Given the description of an element on the screen output the (x, y) to click on. 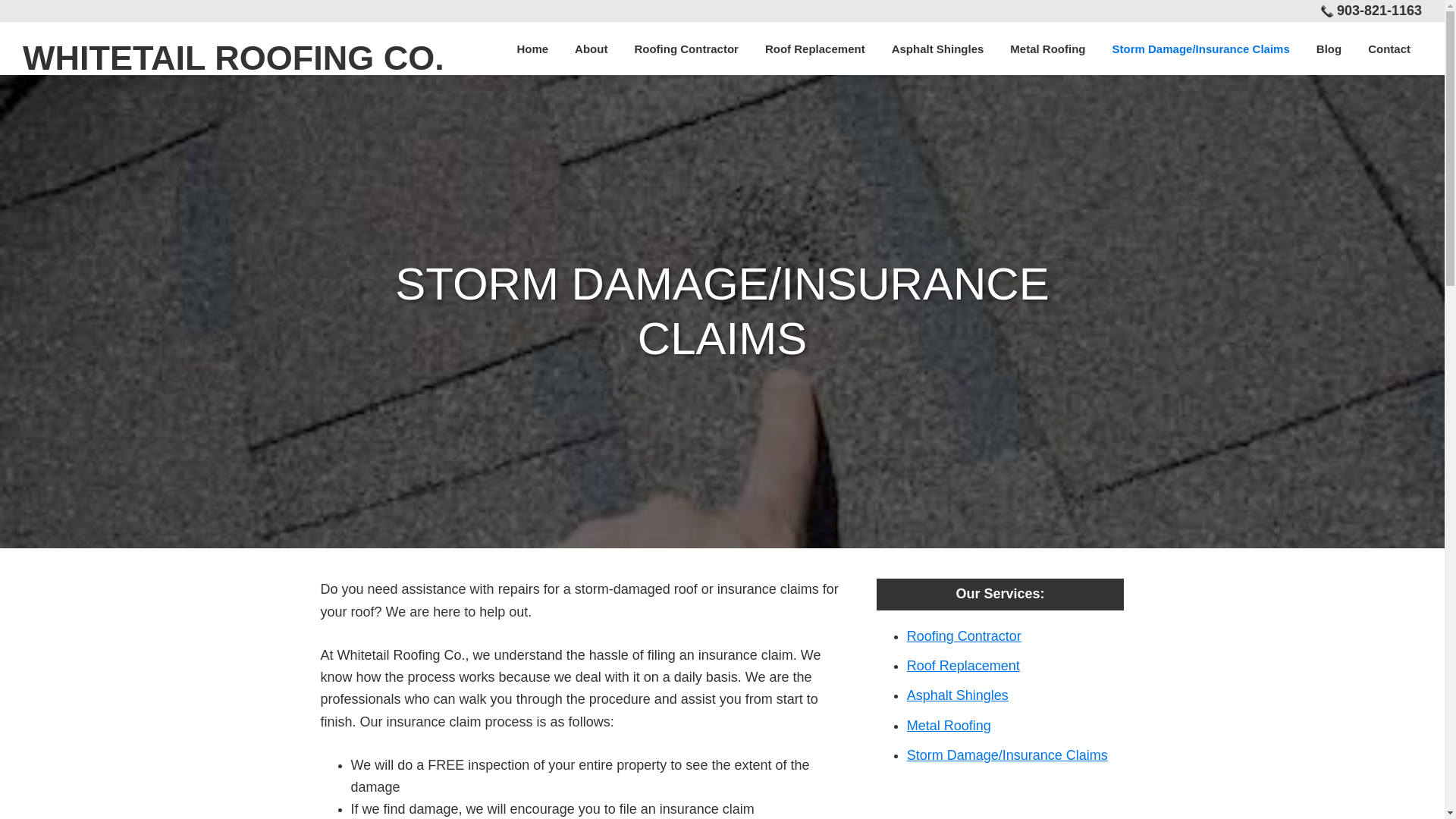
Roofing Contractor (964, 635)
Roofing Contractor (686, 48)
Asphalt Shingles (937, 48)
Home (532, 48)
Contact (1389, 48)
903-821-1163 (1379, 11)
Blog (1328, 48)
WHITETAIL ROOFING CO. (233, 57)
Metal Roofing (949, 725)
Asphalt Shingles (958, 694)
About (590, 48)
Metal Roofing (1047, 48)
Roof Replacement (815, 48)
Roof Replacement (963, 665)
